Given the description of an element on the screen output the (x, y) to click on. 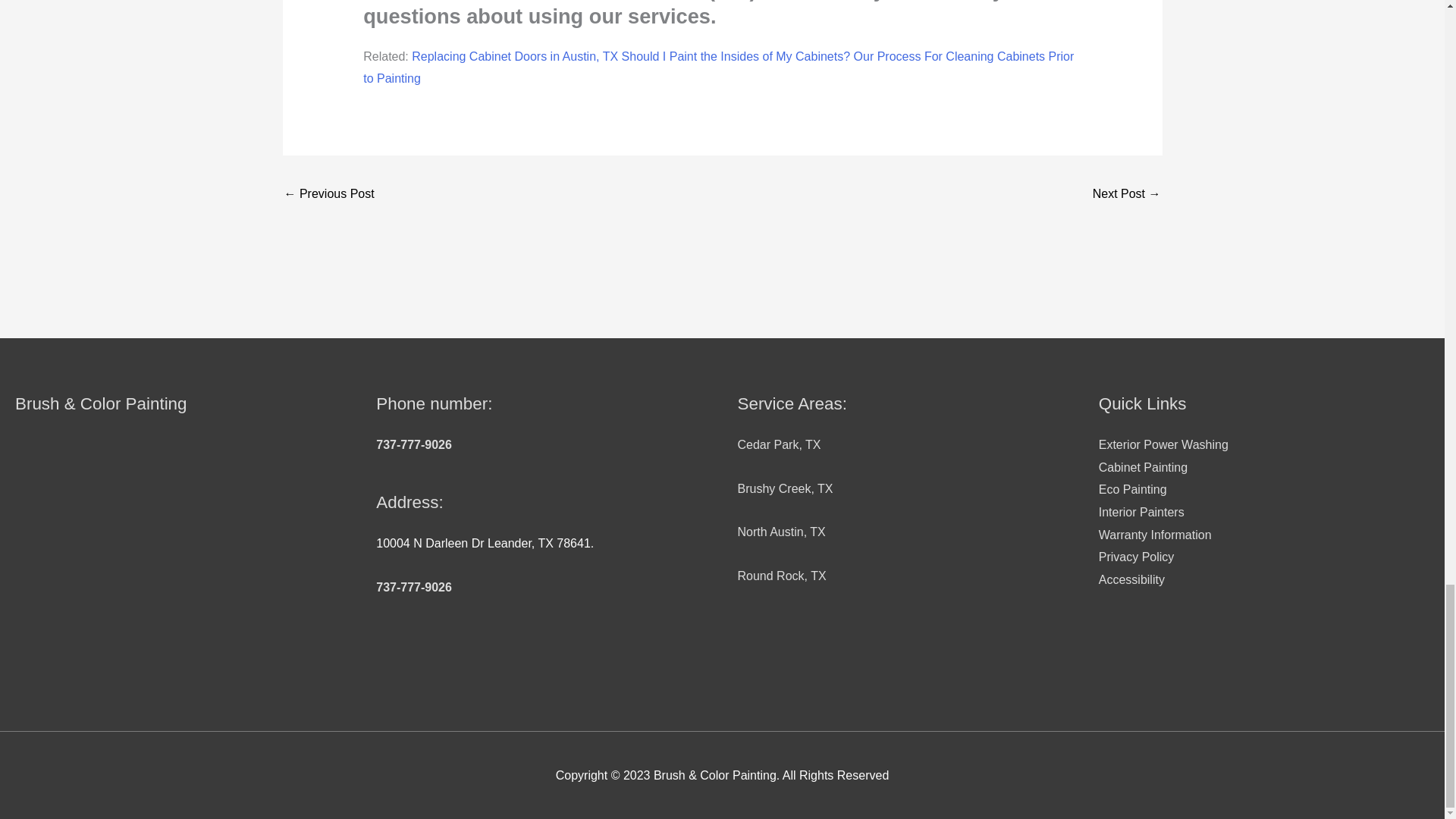
FREE estimate (509, 0)
Our Process For Cleaning Cabinets Prior to Painting (718, 67)
Replacing Cabinet Doors in Austin, TX (514, 56)
Should I Paint the Insides of My Cabinets? (735, 56)
